Given the description of an element on the screen output the (x, y) to click on. 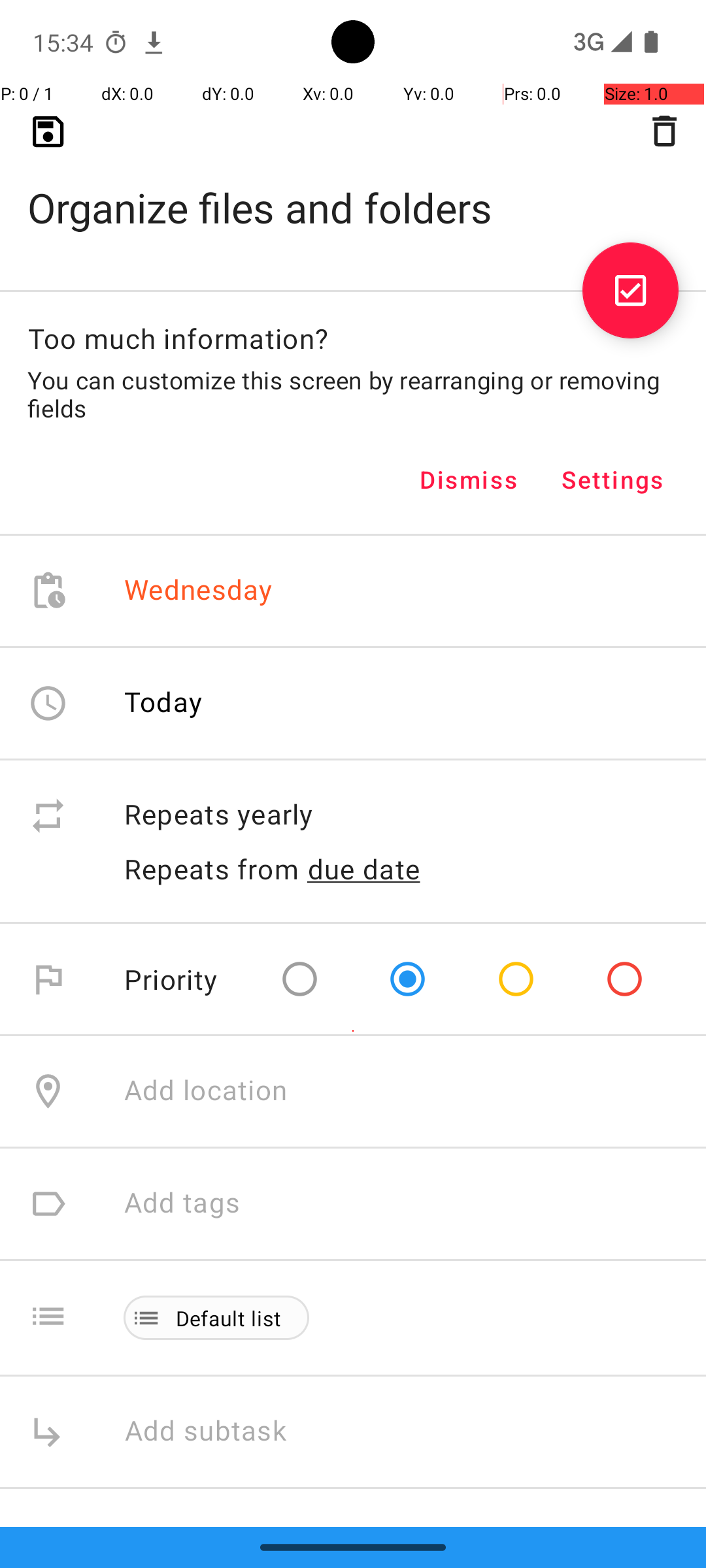
Organize files and folders Element type: android.widget.EditText (353, 186)
Repeats yearly Element type: android.widget.TextView (400, 815)
